Given the description of an element on the screen output the (x, y) to click on. 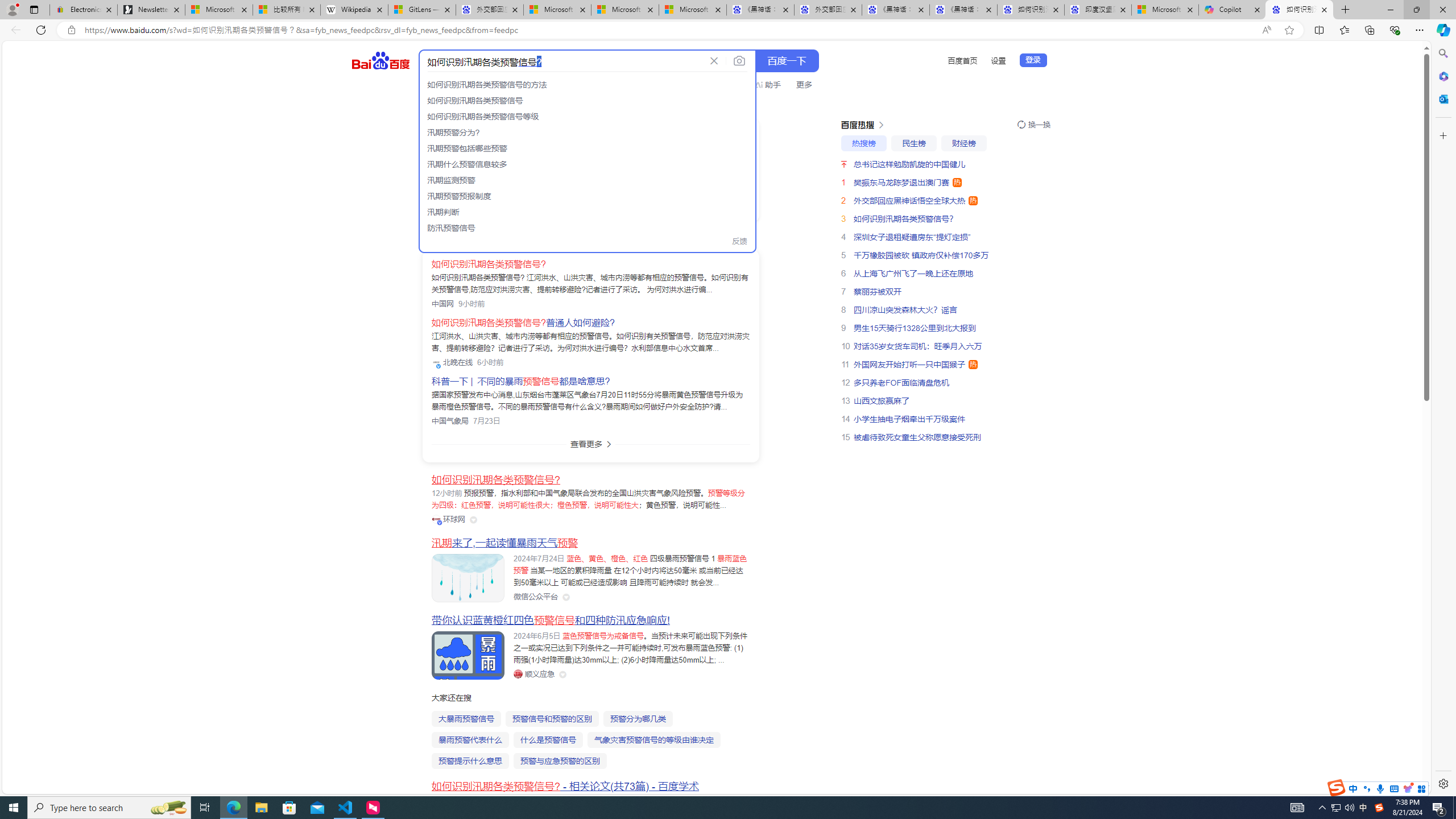
Class: siteLink_9TPP3 (533, 673)
Wikipedia (354, 9)
